Given the description of an element on the screen output the (x, y) to click on. 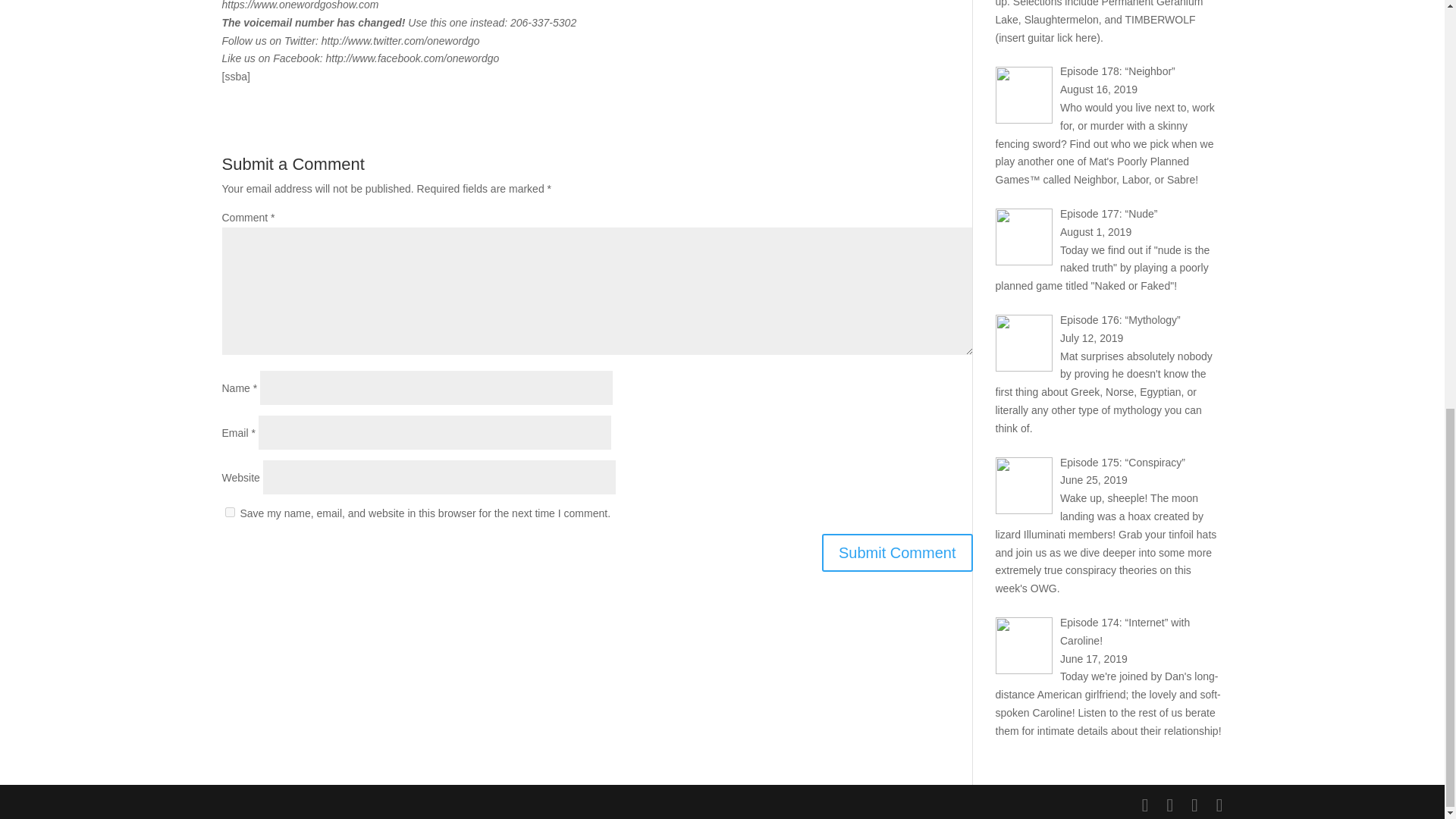
Submit Comment (897, 552)
yes (229, 511)
Submit Comment (897, 552)
